Given the description of an element on the screen output the (x, y) to click on. 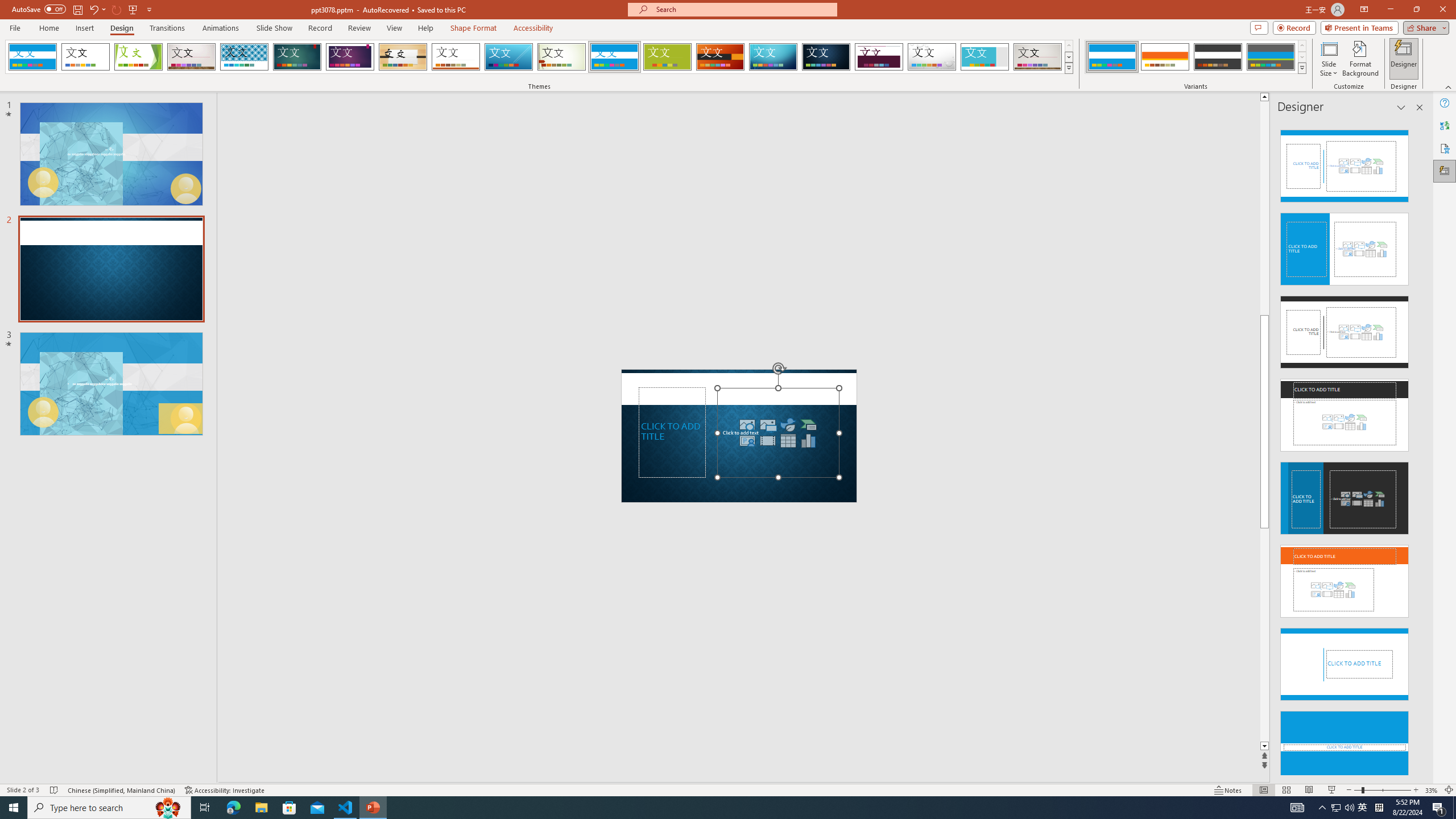
Banded Variant 2 (1164, 56)
Variants (1301, 67)
Banded Variant 4 (1270, 56)
Circuit (772, 56)
Organic (403, 56)
Basis (667, 56)
Slice (508, 56)
